Given the description of an element on the screen output the (x, y) to click on. 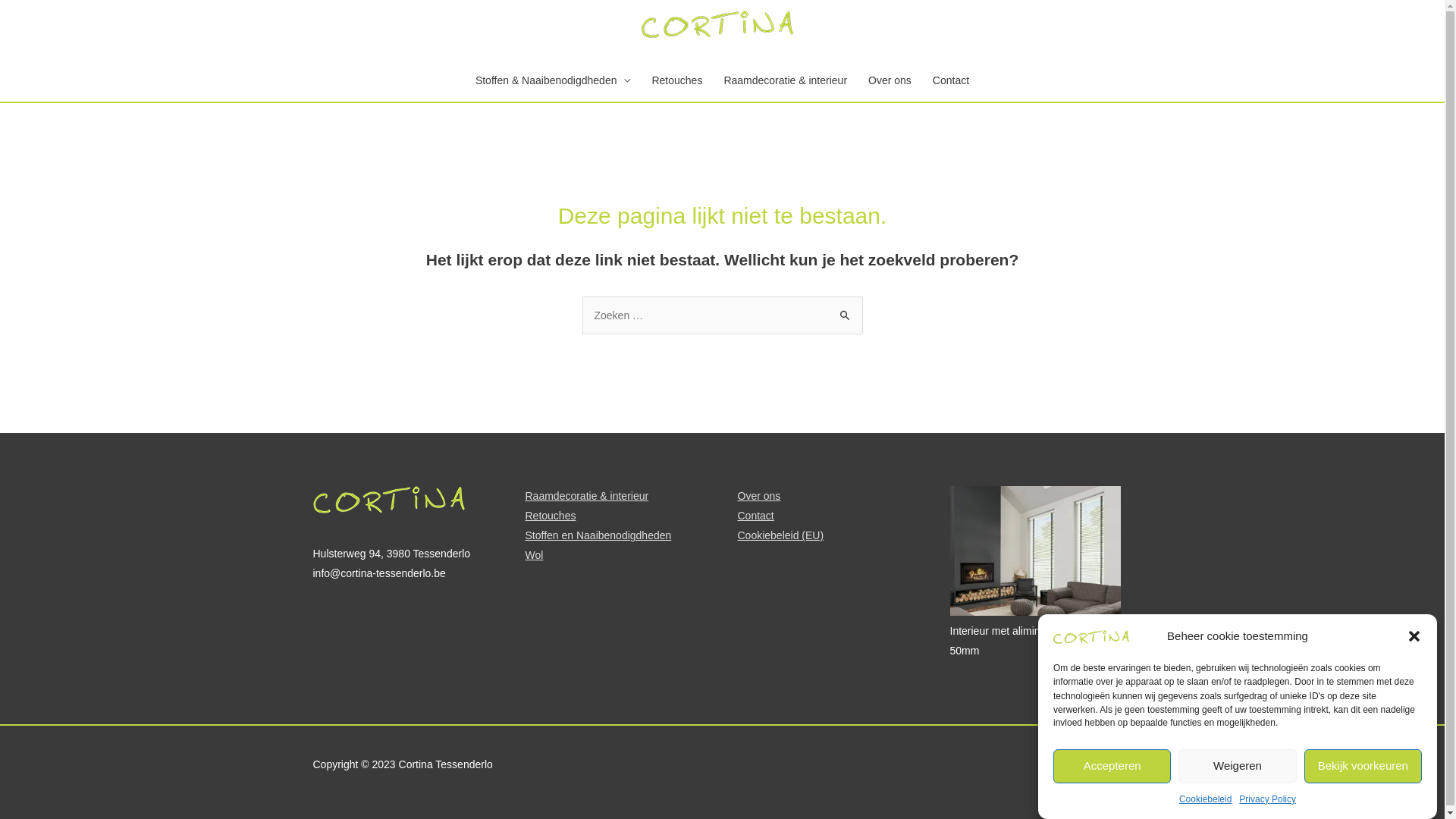
Cookiebeleid Element type: text (1205, 798)
Contact Element type: text (950, 80)
Bekijk voorkeuren Element type: text (1362, 766)
Zoeken Element type: text (845, 311)
Wol Element type: text (533, 555)
Raamdecoratie & interieur Element type: text (586, 495)
Retouches Element type: text (549, 515)
Retouches Element type: text (676, 80)
Accepteren Element type: text (1111, 766)
Weigeren Element type: text (1236, 766)
Contact Element type: text (755, 515)
Raamdecoratie & interieur Element type: text (784, 80)
Stoffen en Naaibenodigdheden Element type: text (597, 535)
Over ons Element type: text (889, 80)
Cookiebeleid (EU) Element type: text (780, 535)
Stoffen & Naaibenodigdheden Element type: text (552, 80)
Over ons Element type: text (758, 495)
Privacy Policy Element type: text (1098, 764)
Privacy Policy Element type: text (1267, 798)
